Given the description of an element on the screen output the (x, y) to click on. 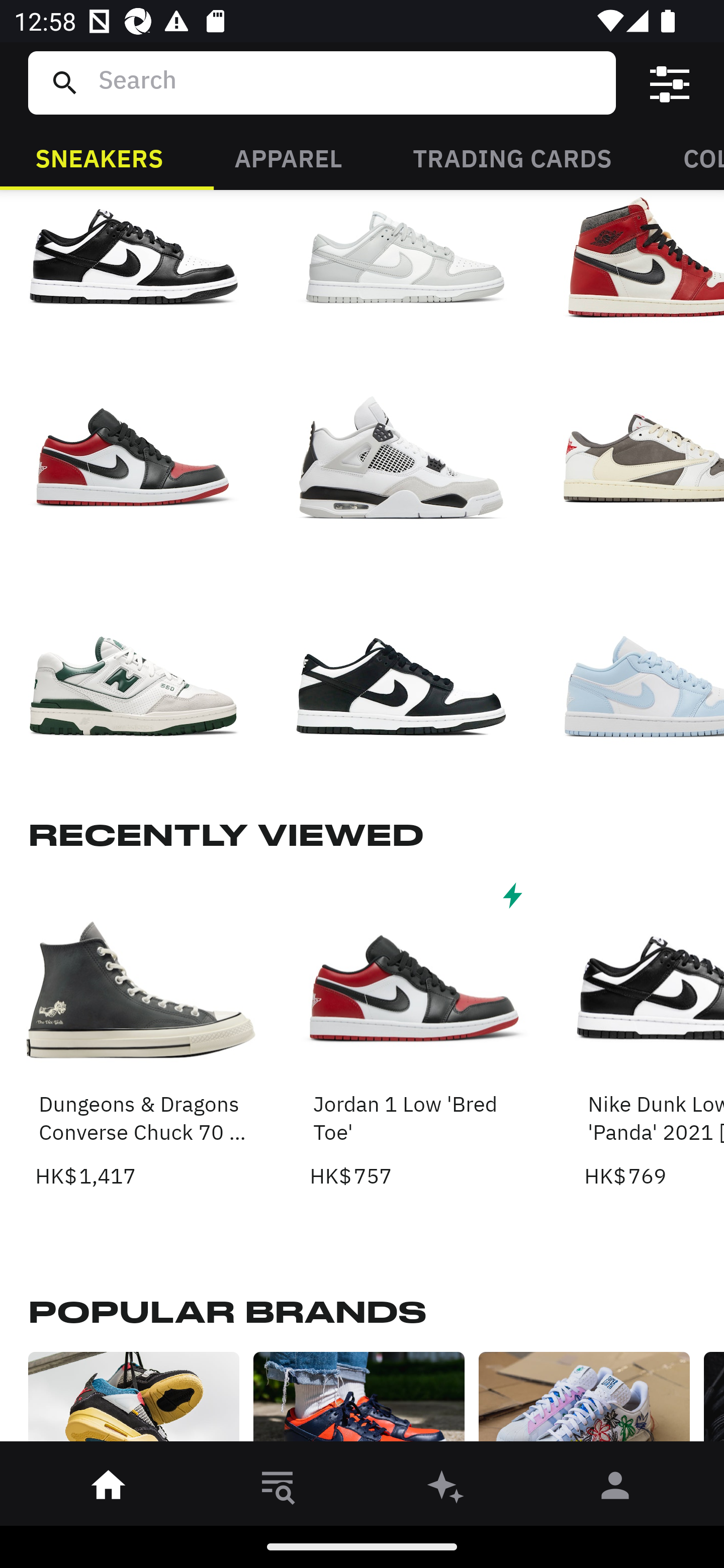
Search (349, 82)
 (669, 82)
SNEAKERS (99, 156)
APPAREL (287, 156)
TRADING CARDS (512, 156)
 Jordan 1 Low 'Bred Toe' HK$ 757 (414, 1033)
󰋜 (108, 1488)
󱎸 (277, 1488)
󰫢 (446, 1488)
󰀄 (615, 1488)
